Given the description of an element on the screen output the (x, y) to click on. 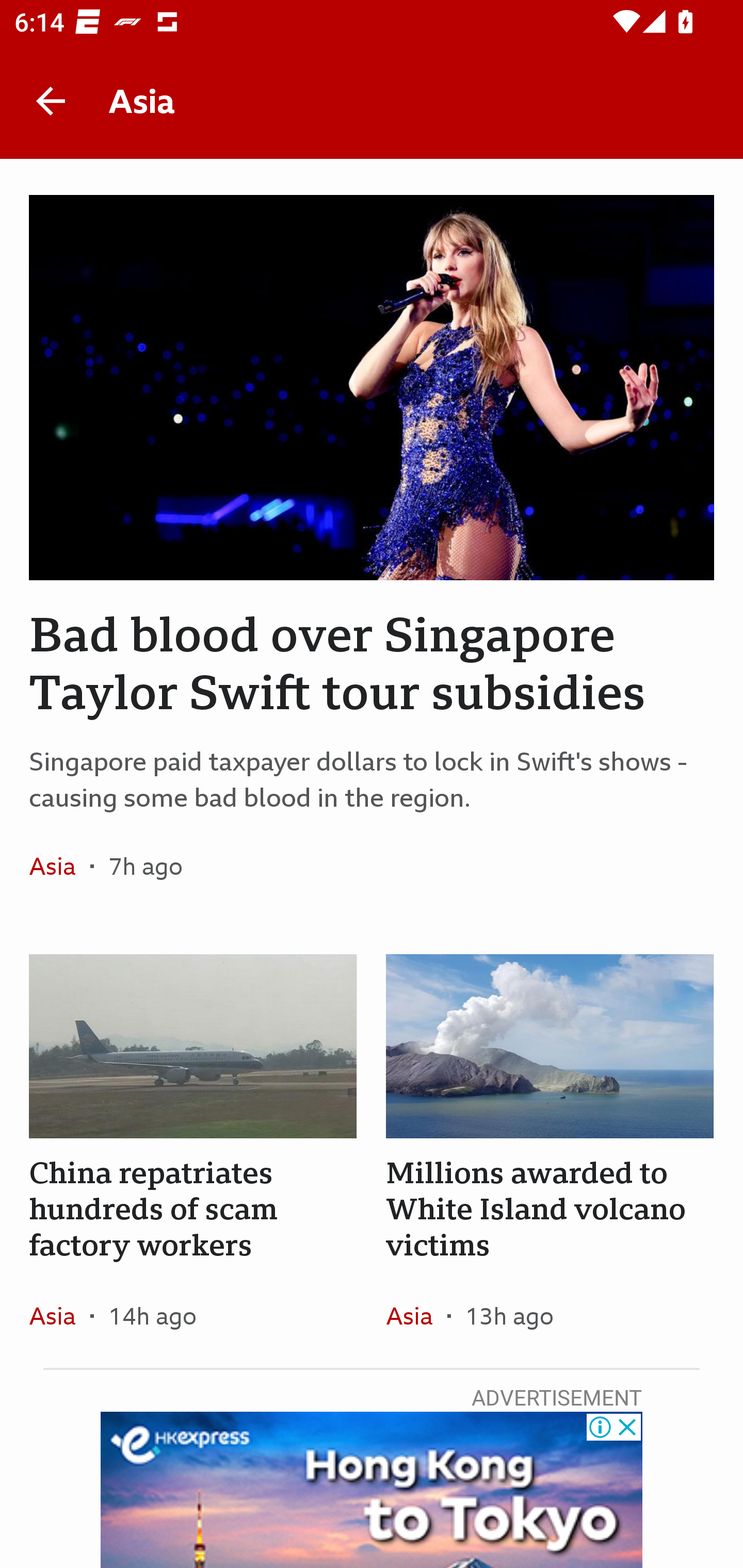
Back (50, 101)
Asia In the section Asia (59, 865)
Asia In the section Asia (59, 1315)
Asia In the section Asia (416, 1315)
Advertisement (371, 1489)
